Given the description of an element on the screen output the (x, y) to click on. 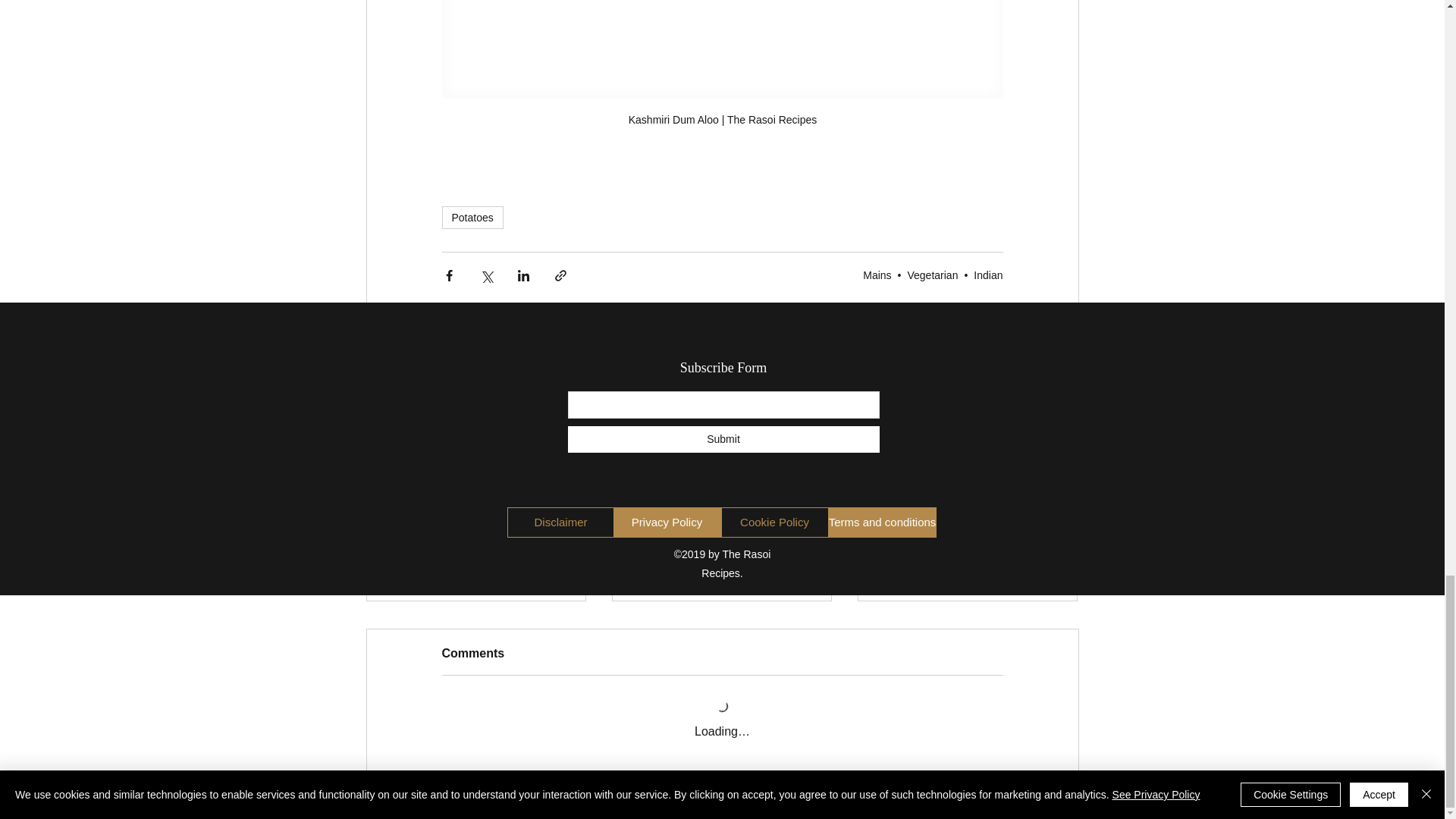
Pav Bhaji Tawa Pulao (476, 548)
Chole (721, 548)
Potatoes (471, 217)
Indian (988, 275)
Mains (877, 275)
Vegetarian (932, 275)
See All (1061, 372)
